Given the description of an element on the screen output the (x, y) to click on. 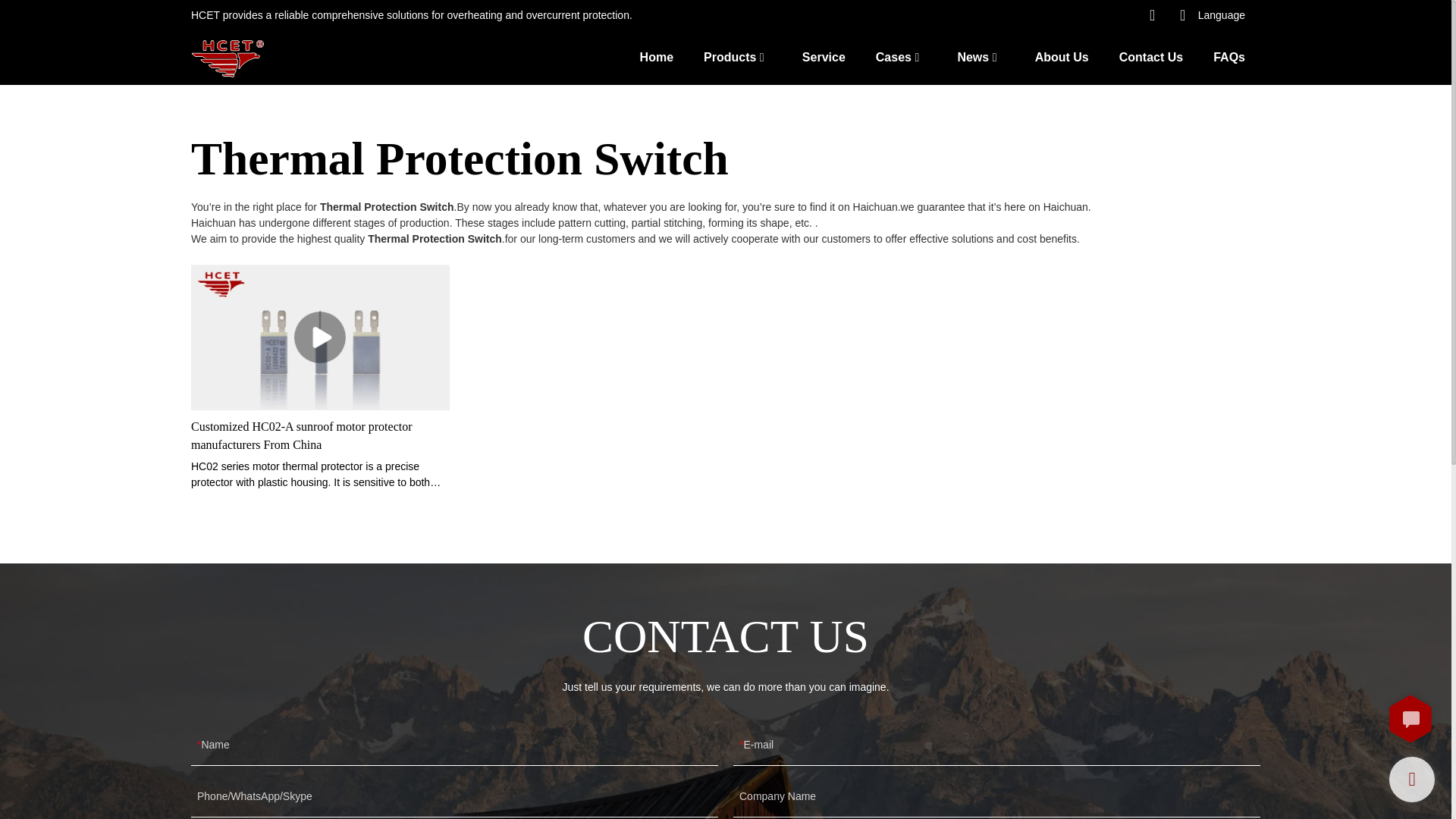
Home (656, 56)
Service (823, 56)
Products (729, 56)
Cases (893, 56)
News (972, 56)
